Given the description of an element on the screen output the (x, y) to click on. 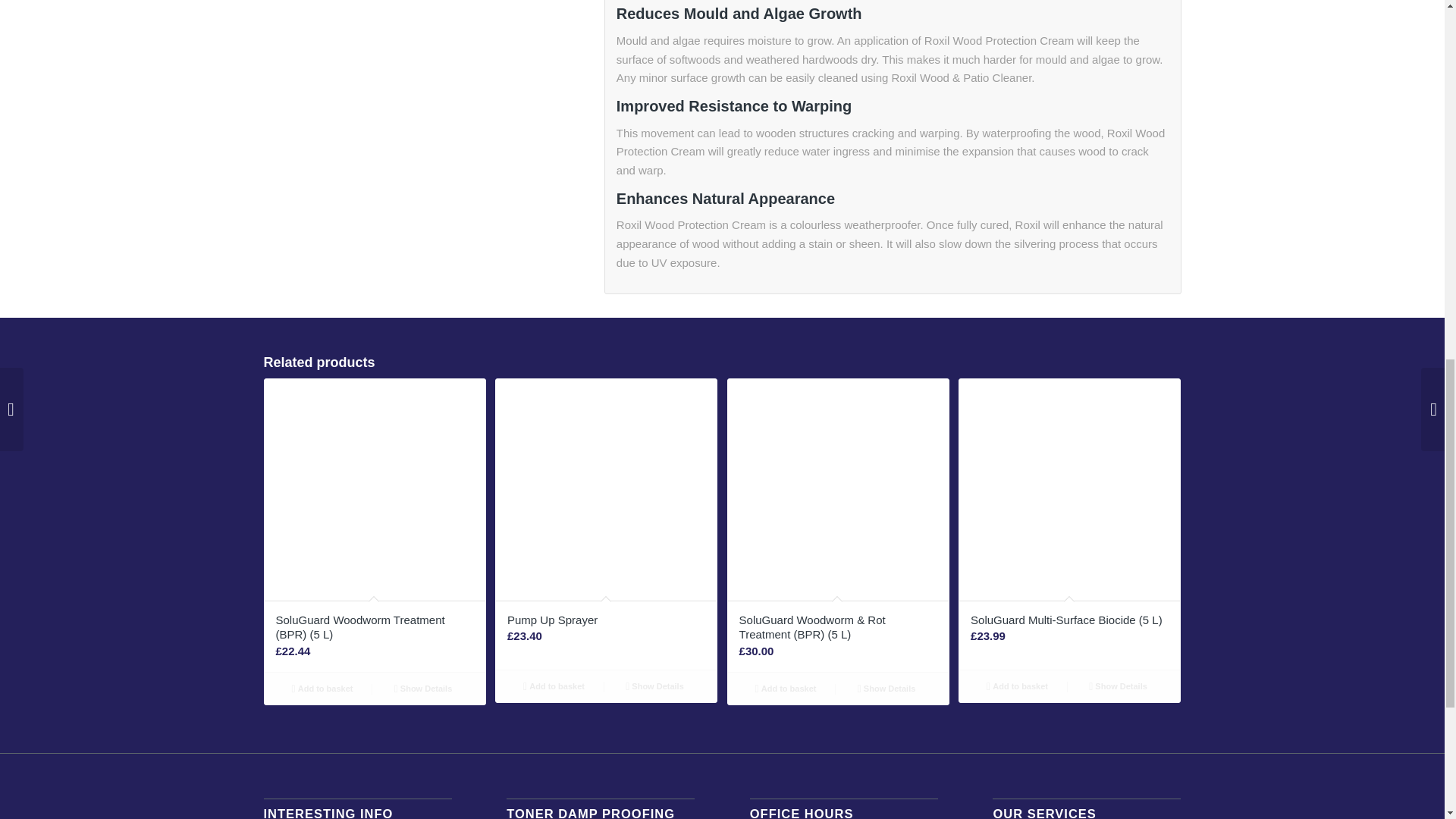
Show Details (422, 688)
Show Details (654, 686)
Add to basket (321, 688)
Add to basket (553, 686)
